Given the description of an element on the screen output the (x, y) to click on. 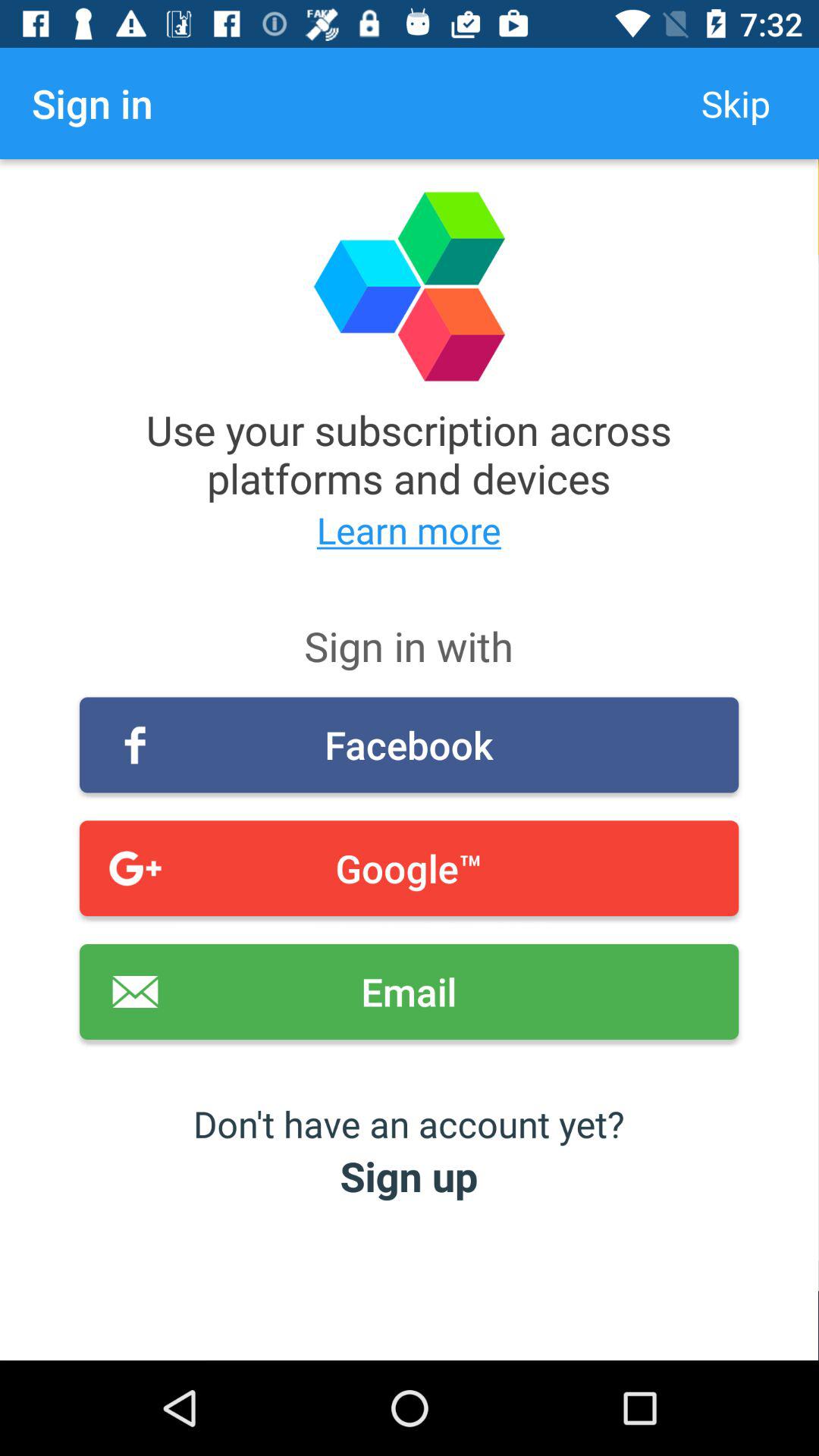
choose the icon above email item (408, 868)
